Given the description of an element on the screen output the (x, y) to click on. 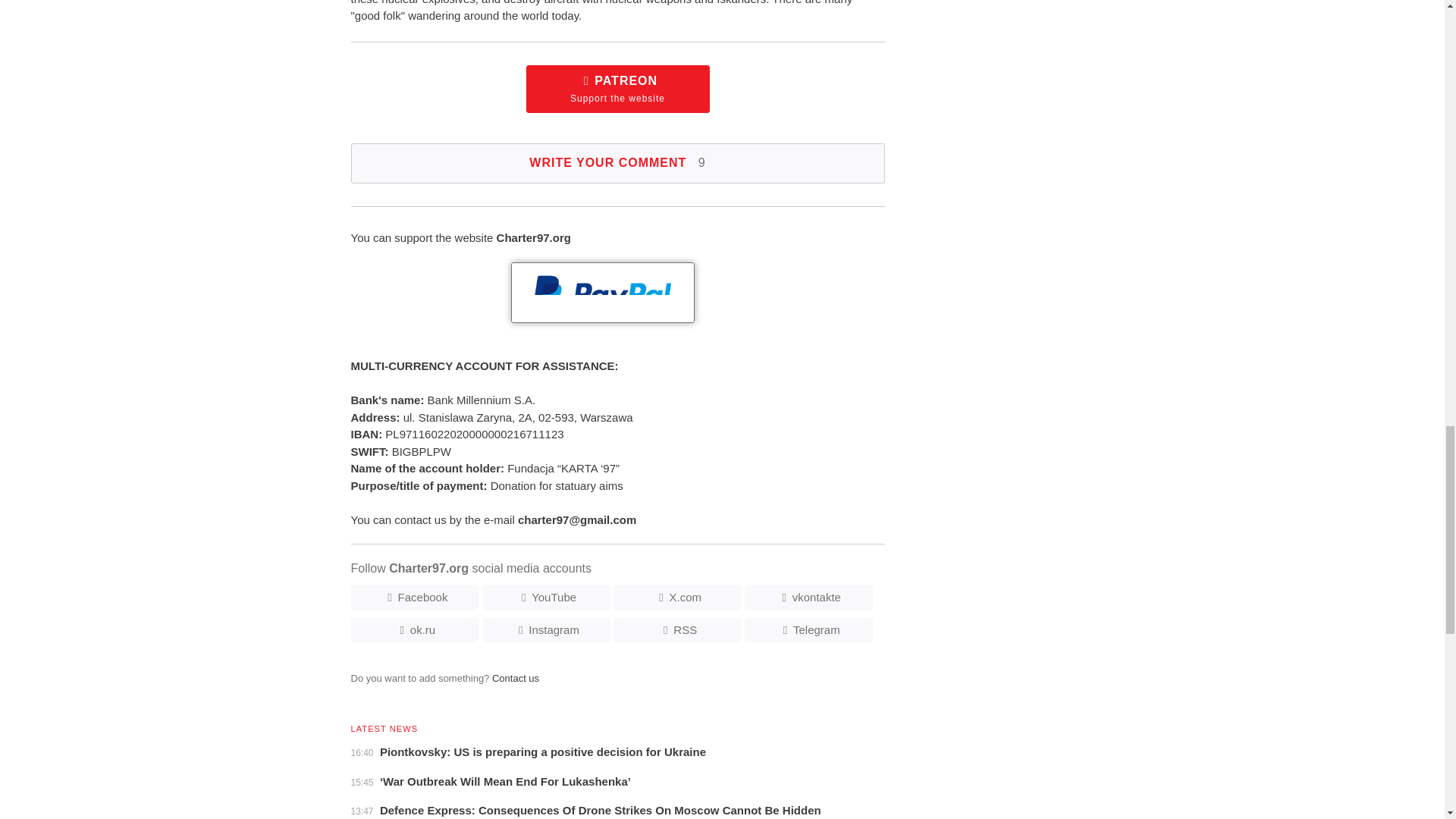
X.com (676, 597)
WRITE YOUR COMMENT 9 (616, 163)
YouTube (545, 597)
vkontakte (617, 89)
Facebook (808, 597)
